Given the description of an element on the screen output the (x, y) to click on. 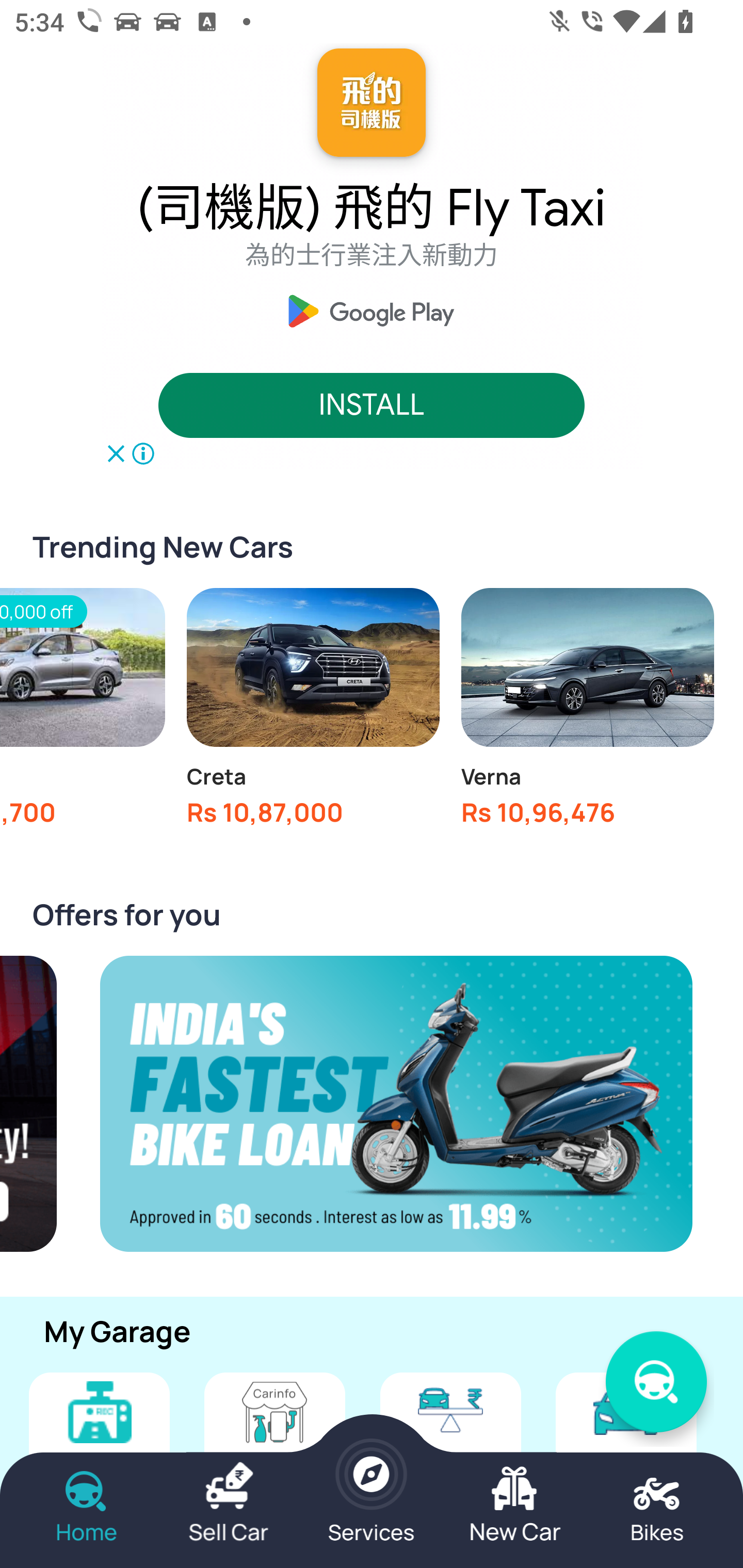
INSTALL (371, 405)
Rs 60,000 off Aura Rs 6,43,700 onwards (82, 712)
Creta Rs 10,87,000 onwards (312, 712)
Verna Rs 10,96,476 onwards (587, 712)
